Given the description of an element on the screen output the (x, y) to click on. 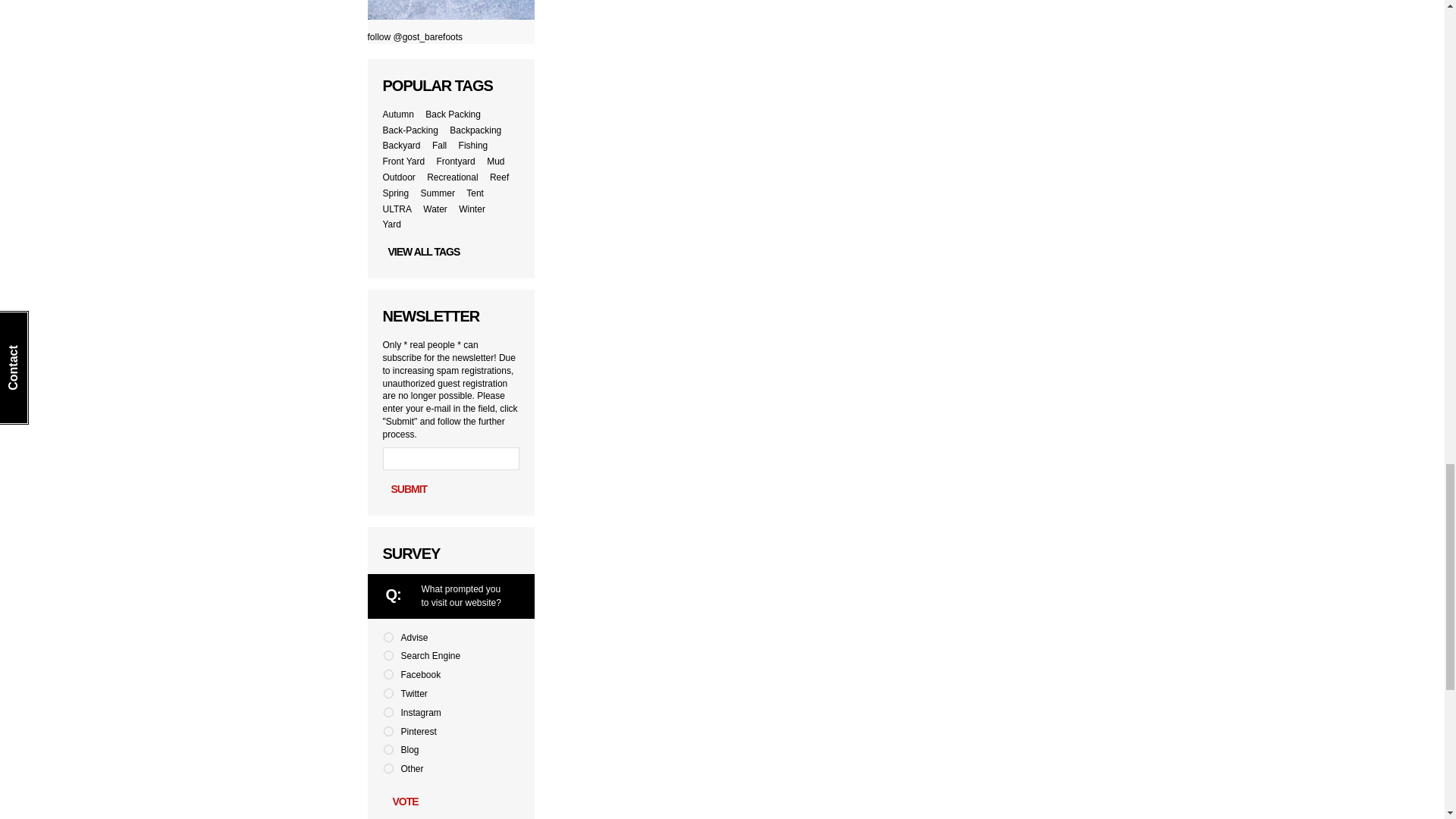
27 (388, 712)
28 (388, 731)
29 (388, 749)
23 (388, 637)
30 (388, 768)
24 (388, 655)
26 (388, 693)
25 (388, 674)
